Given the description of an element on the screen output the (x, y) to click on. 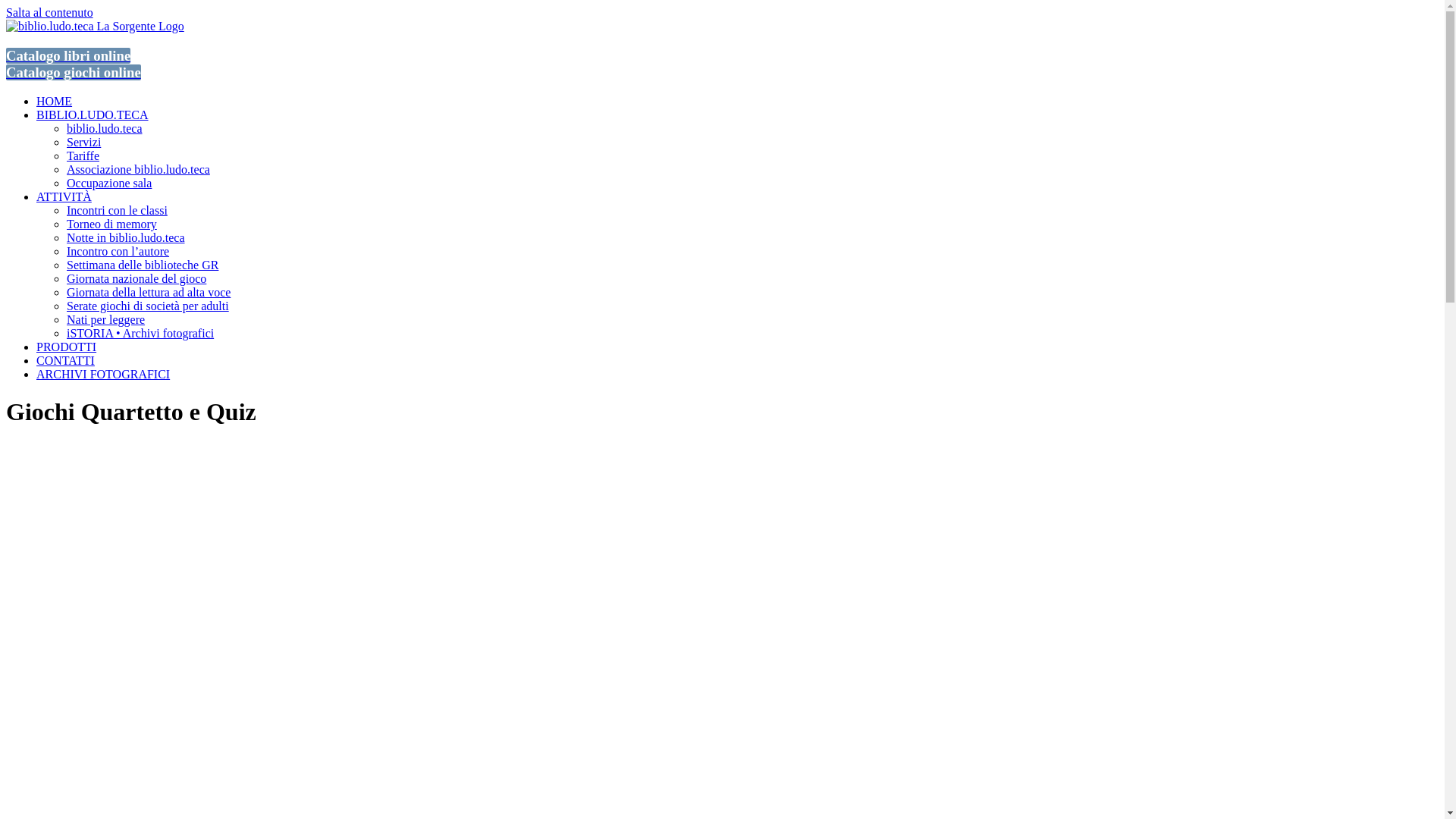
biblio.ludo.teca Element type: text (104, 128)
Associazione biblio.ludo.teca Element type: text (138, 169)
Occupazione sala Element type: text (108, 182)
Salta al contenuto Element type: text (49, 12)
Notte in biblio.ludo.teca Element type: text (125, 237)
Catalogo libri online Element type: text (68, 55)
PRODOTTI Element type: text (66, 346)
BIBLIO.LUDO.TECA Element type: text (92, 114)
Tariffe Element type: text (82, 155)
Incontri con le classi Element type: text (116, 209)
CONTATTI Element type: text (65, 360)
Settimana delle biblioteche GR Element type: text (142, 264)
Giornata nazionale del gioco Element type: text (136, 278)
Torneo di memory Element type: text (111, 223)
Catalogo giochi online Element type: text (73, 72)
Giornata della lettura ad alta voce Element type: text (148, 291)
HOME Element type: text (54, 100)
Servizi Element type: text (83, 141)
Nati per leggere Element type: text (105, 319)
ARCHIVI FOTOGRAFICI Element type: text (102, 373)
